Given the description of an element on the screen output the (x, y) to click on. 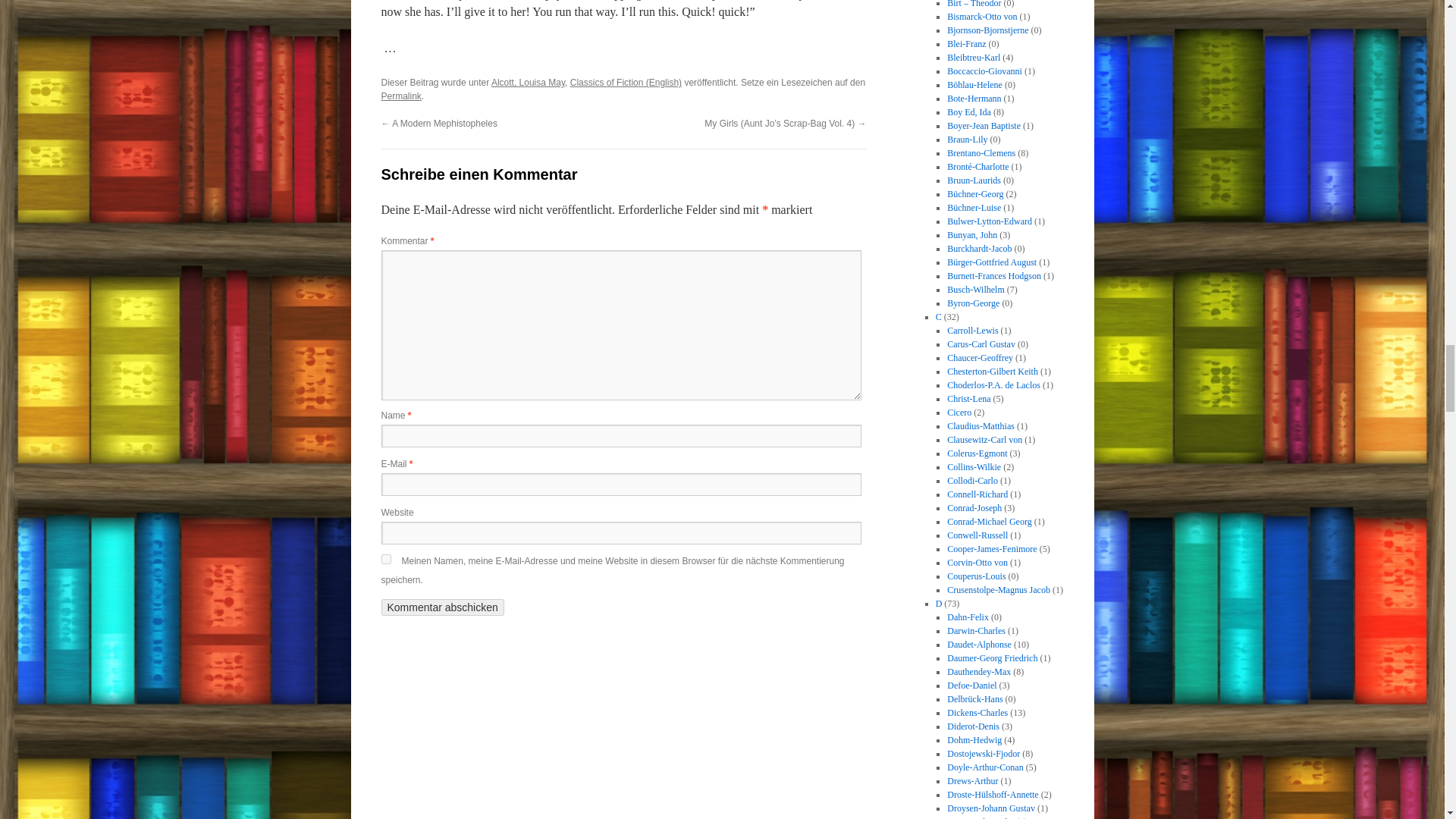
yes (385, 559)
Permalink zu Under The Lilacs (400, 95)
Kommentar abschicken (441, 606)
Kommentar abschicken (441, 606)
Alcott, Louisa May (528, 81)
Permalink (400, 95)
